Given the description of an element on the screen output the (x, y) to click on. 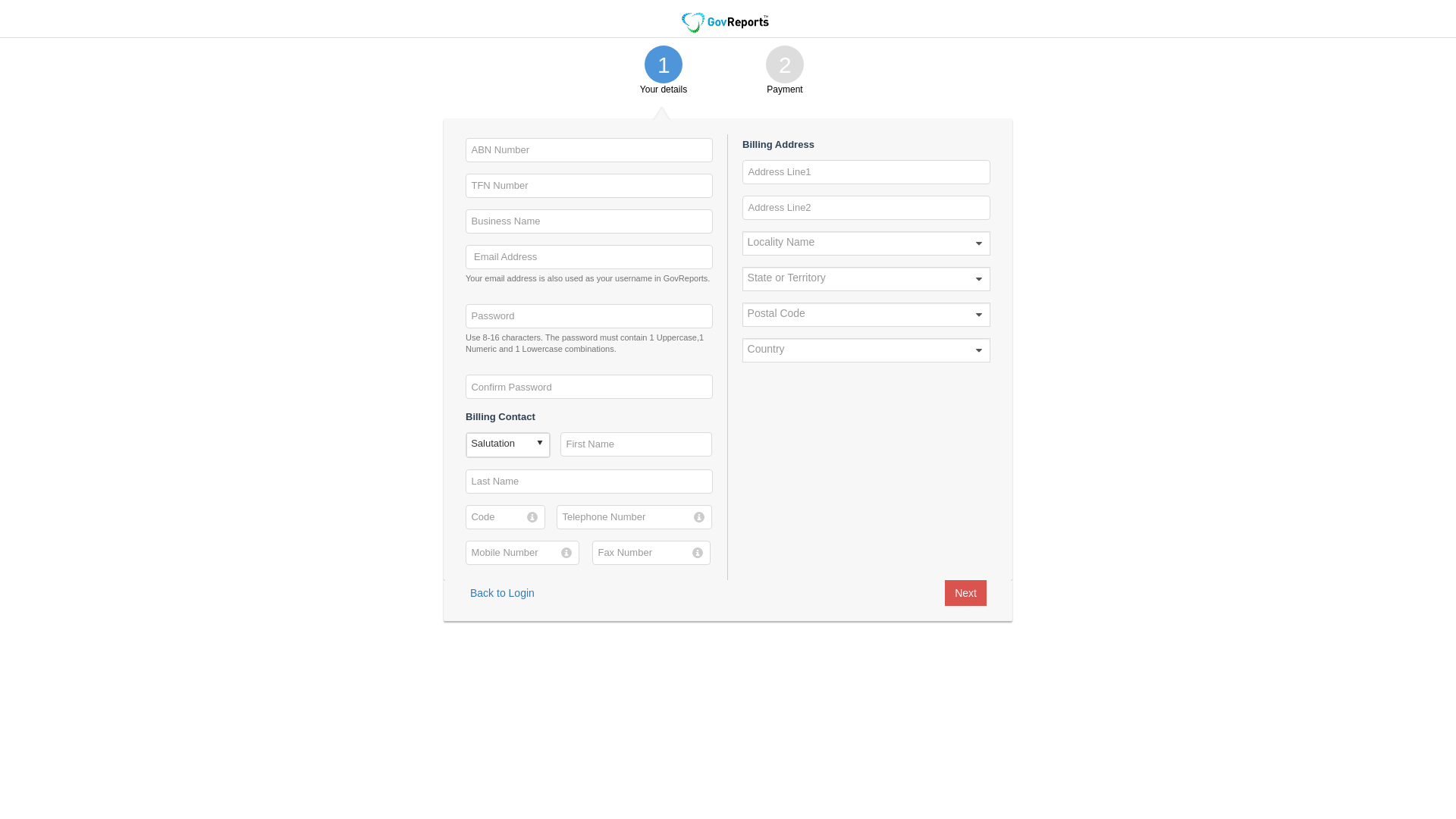
Next Element type: text (965, 592)
Back to Login Element type: text (502, 592)
2 Element type: text (784, 64)
1 Element type: text (663, 64)
